Given the description of an element on the screen output the (x, y) to click on. 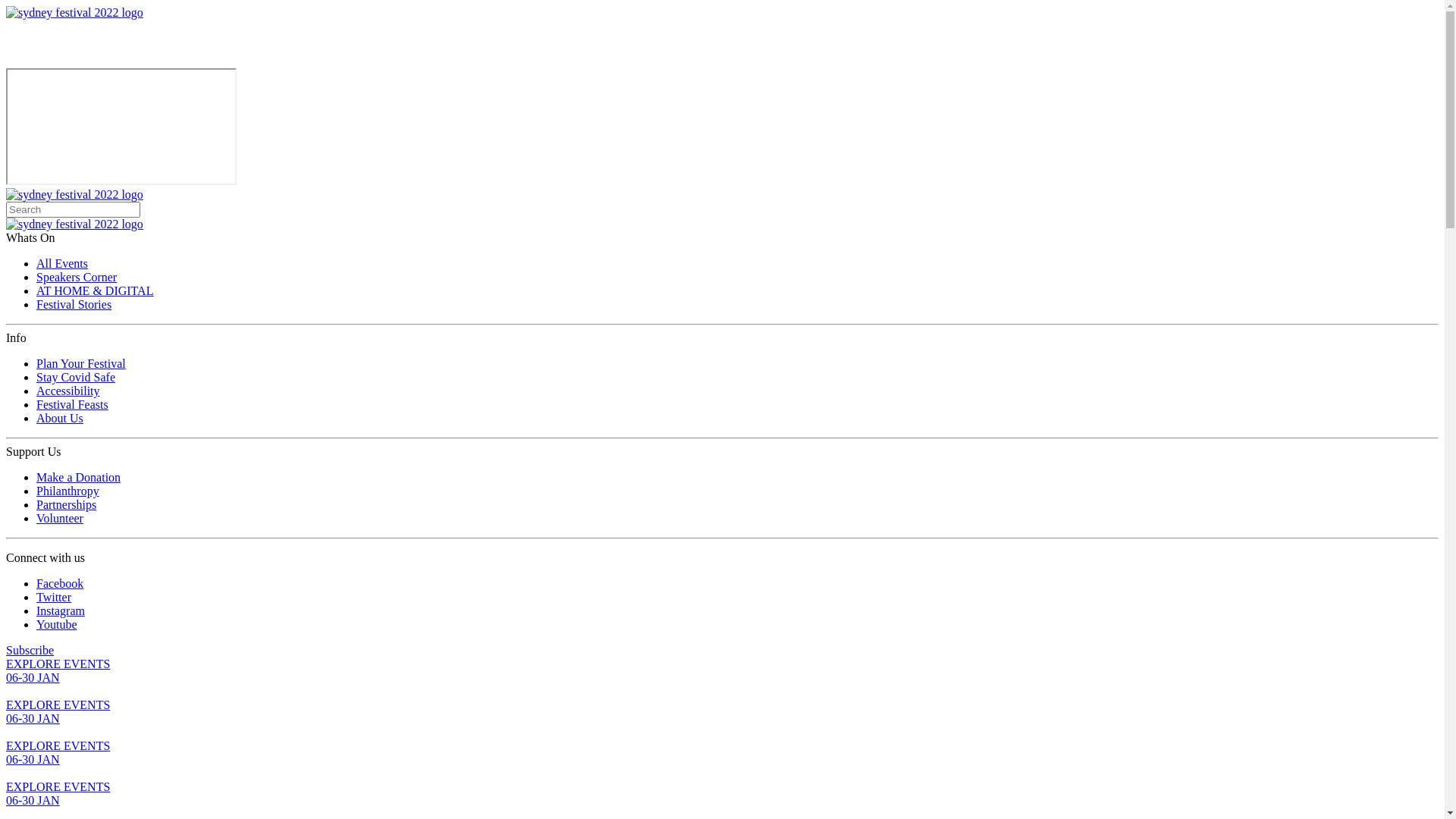
Instagram Element type: text (60, 610)
EXPLORE EVENTS
06-30 JAN Element type: text (722, 677)
EXPLORE EVENTS
06-30 JAN Element type: text (722, 759)
Festival Stories Element type: text (73, 304)
Philanthropy Element type: text (67, 490)
All Events Element type: text (61, 263)
Twitter Element type: text (53, 596)
Subscribe Element type: text (29, 649)
About Us Element type: text (59, 417)
Youtube Element type: text (56, 624)
Accessibility Element type: text (68, 390)
Plan Your Festival Element type: text (80, 363)
Festival Feasts Element type: text (72, 404)
Partnerships Element type: text (66, 504)
Facebook Element type: text (59, 583)
Make a Donation Element type: text (78, 476)
Stay Covid Safe Element type: text (75, 376)
Volunteer Element type: text (59, 517)
EXPLORE EVENTS
06-30 JAN Element type: text (722, 718)
AT HOME & DIGITAL Element type: text (94, 290)
Speakers Corner Element type: text (76, 276)
